Given the description of an element on the screen output the (x, y) to click on. 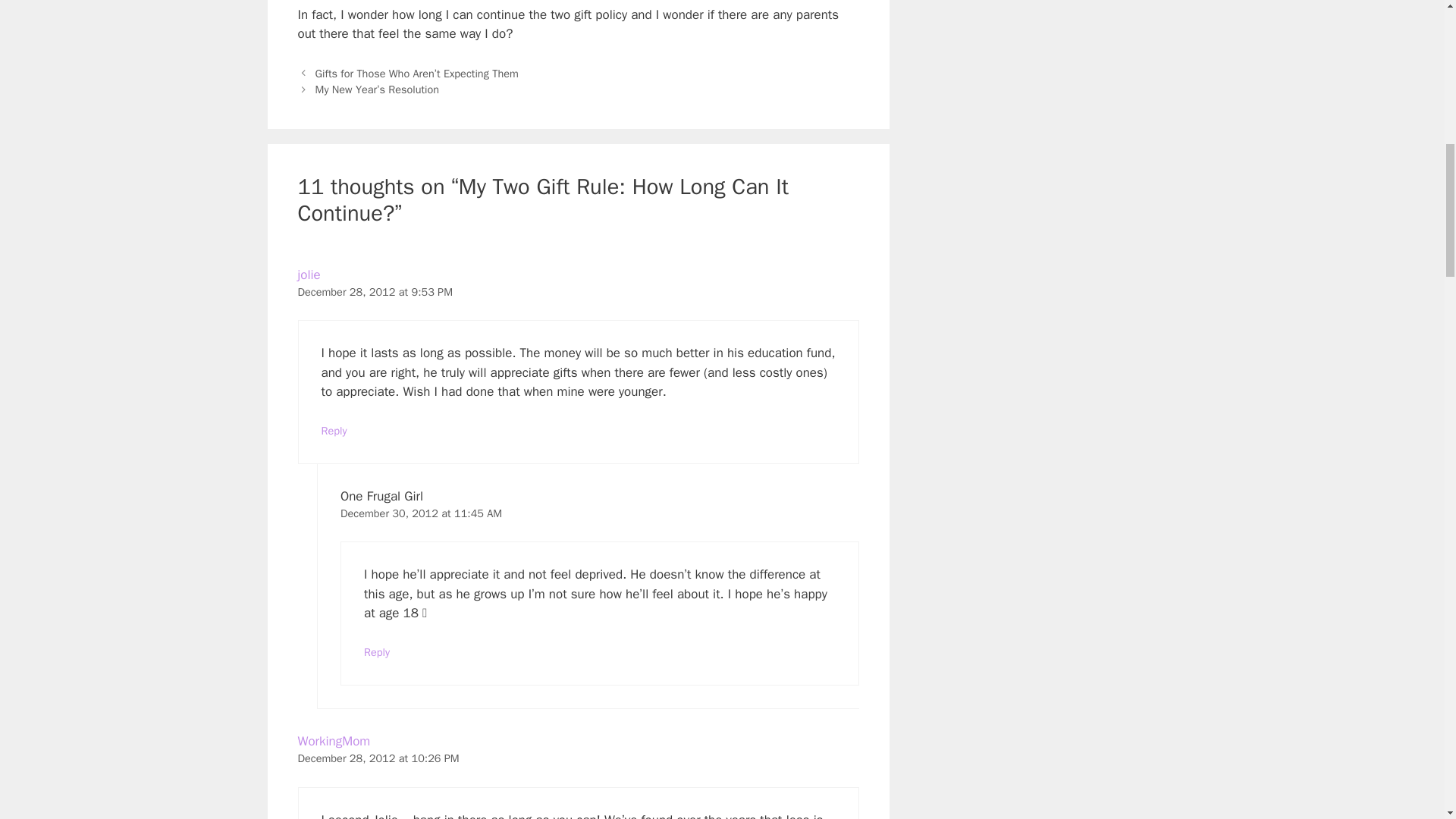
Reply (377, 652)
WorkingMom (333, 741)
December 30, 2012 at 11:45 AM (421, 513)
Reply (334, 430)
jolie (308, 274)
December 28, 2012 at 9:53 PM (374, 291)
December 28, 2012 at 10:26 PM (377, 757)
